Given the description of an element on the screen output the (x, y) to click on. 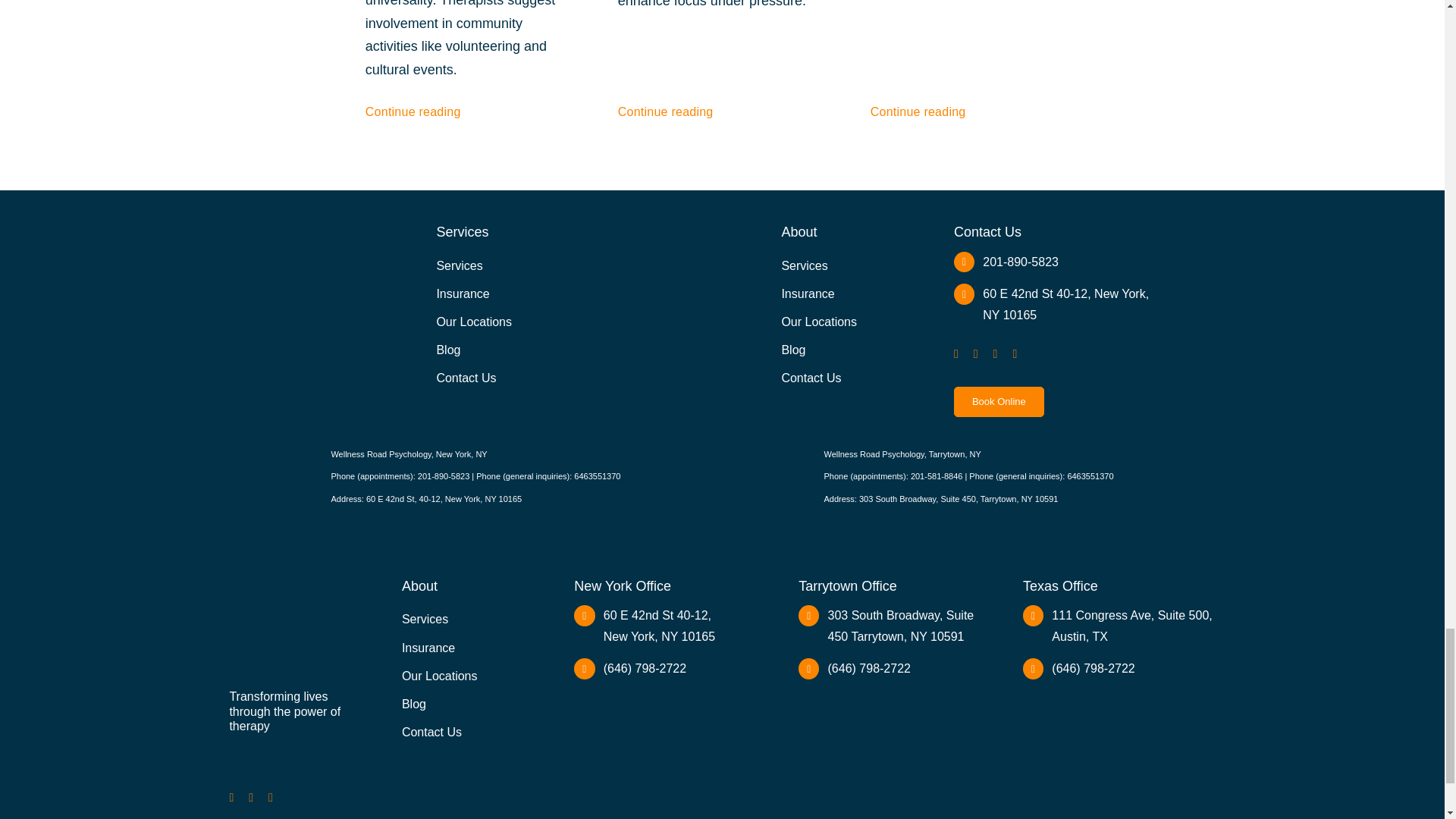
Wellness Road Psychology (290, 757)
Wellness Road Psychology (234, 748)
2653252 (307, 286)
